Given the description of an element on the screen output the (x, y) to click on. 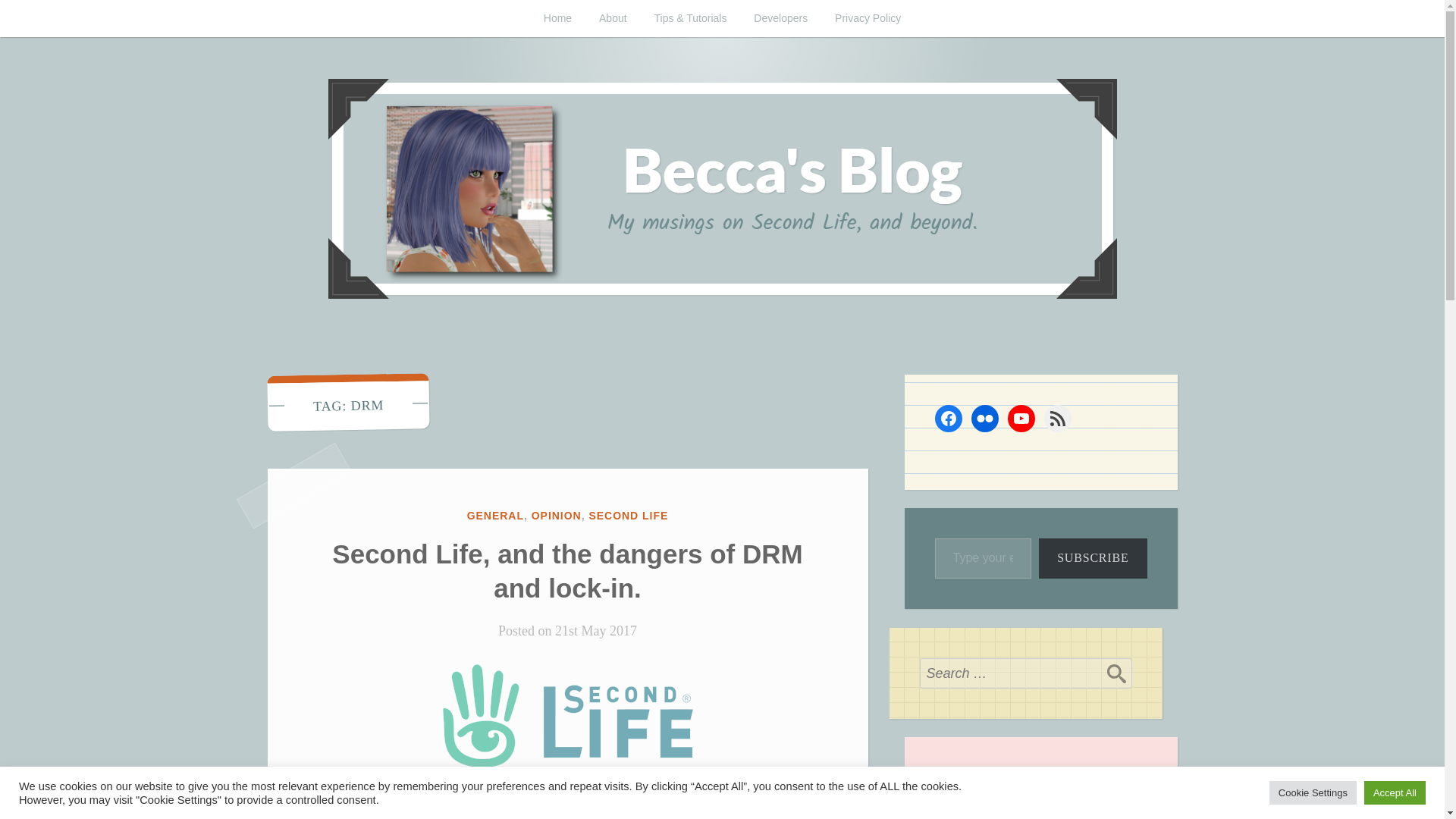
21st May 2017 (595, 630)
SUBSCRIBE (1093, 558)
OPINION (555, 515)
RSS Feed (1056, 418)
SECOND LIFE (628, 515)
YouTube (1020, 418)
Second Life, and the dangers of DRM and lock-in. (566, 570)
Search (1115, 673)
Becca's Blog (455, 358)
Please fill in this field. (982, 558)
Privacy Policy (867, 18)
Developers (780, 18)
Search (1115, 673)
Flickr (984, 418)
an article (451, 787)
